Given the description of an element on the screen output the (x, y) to click on. 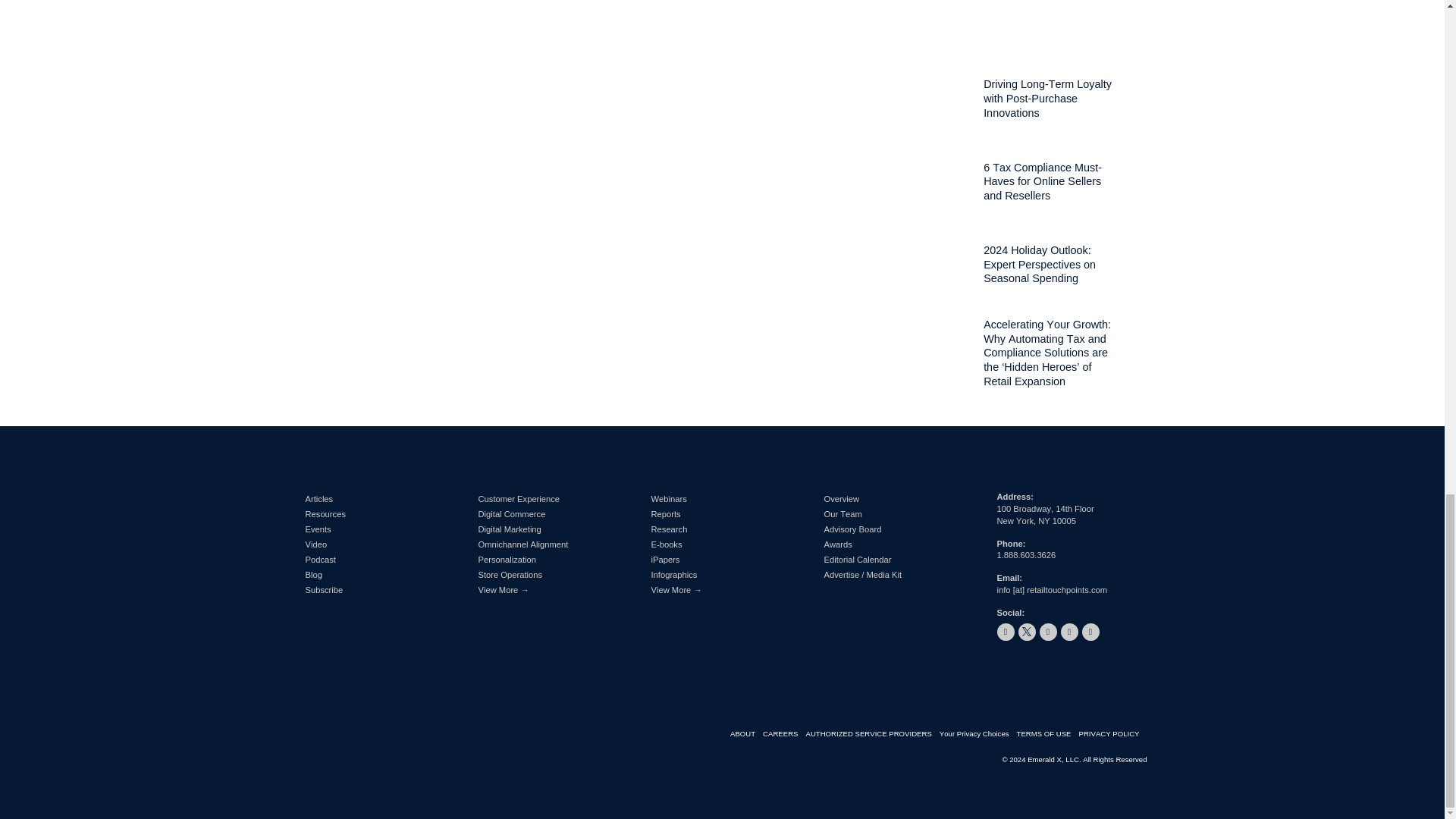
authorized-service-providers (872, 733)
privacy-policy (1112, 733)
about (746, 733)
careers (783, 733)
your-privacy-choices (977, 733)
terms-of-use (1047, 733)
